Given the description of an element on the screen output the (x, y) to click on. 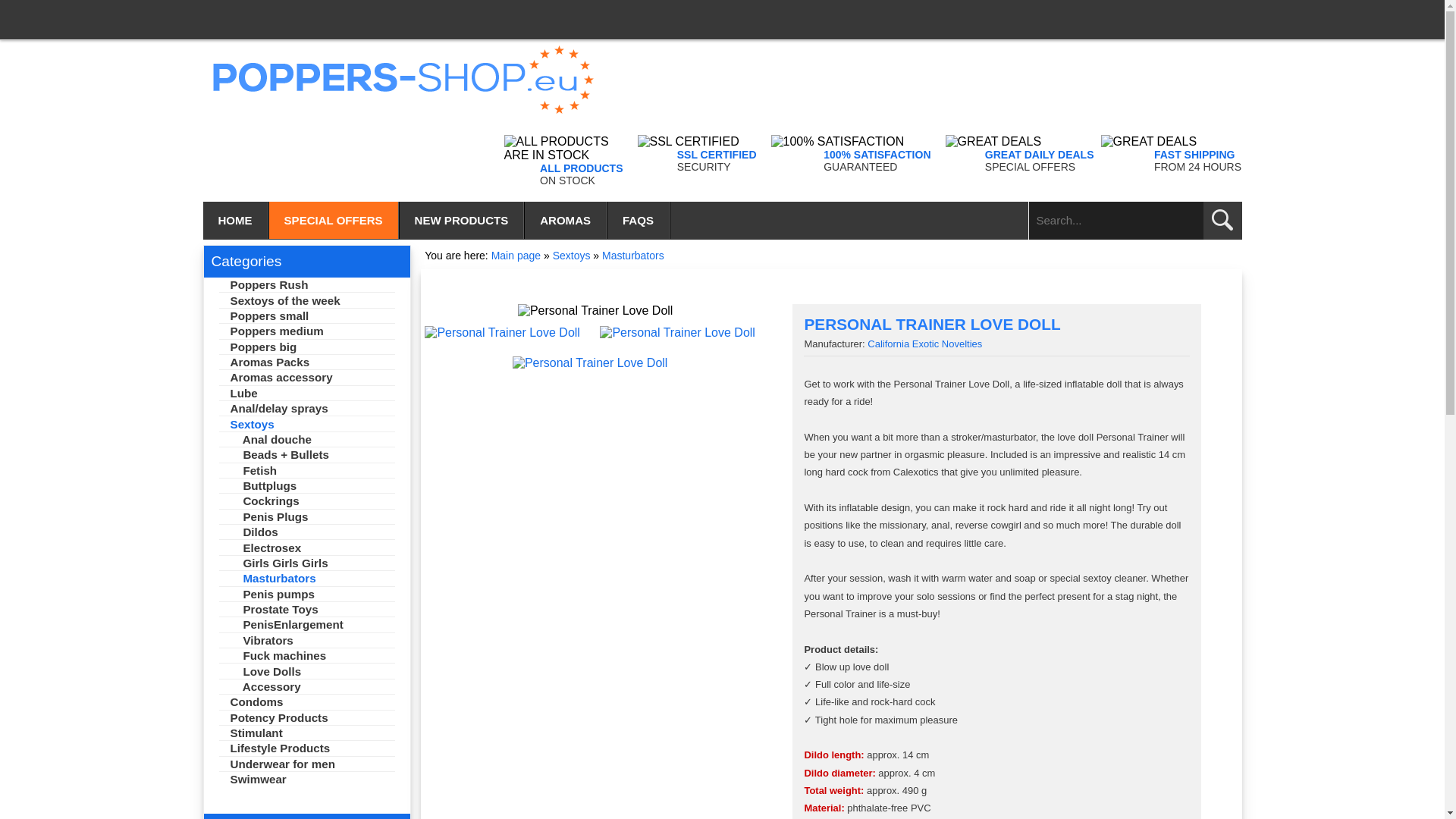
Aromas (565, 220)
FAQS (638, 220)
 Search!  (1221, 220)
FAQs (638, 220)
AROMAS (565, 220)
Special Offers (333, 220)
New Products (461, 220)
HOME (236, 220)
SPECIAL OFFERS (333, 220)
NEW PRODUCTS (461, 220)
